Given the description of an element on the screen output the (x, y) to click on. 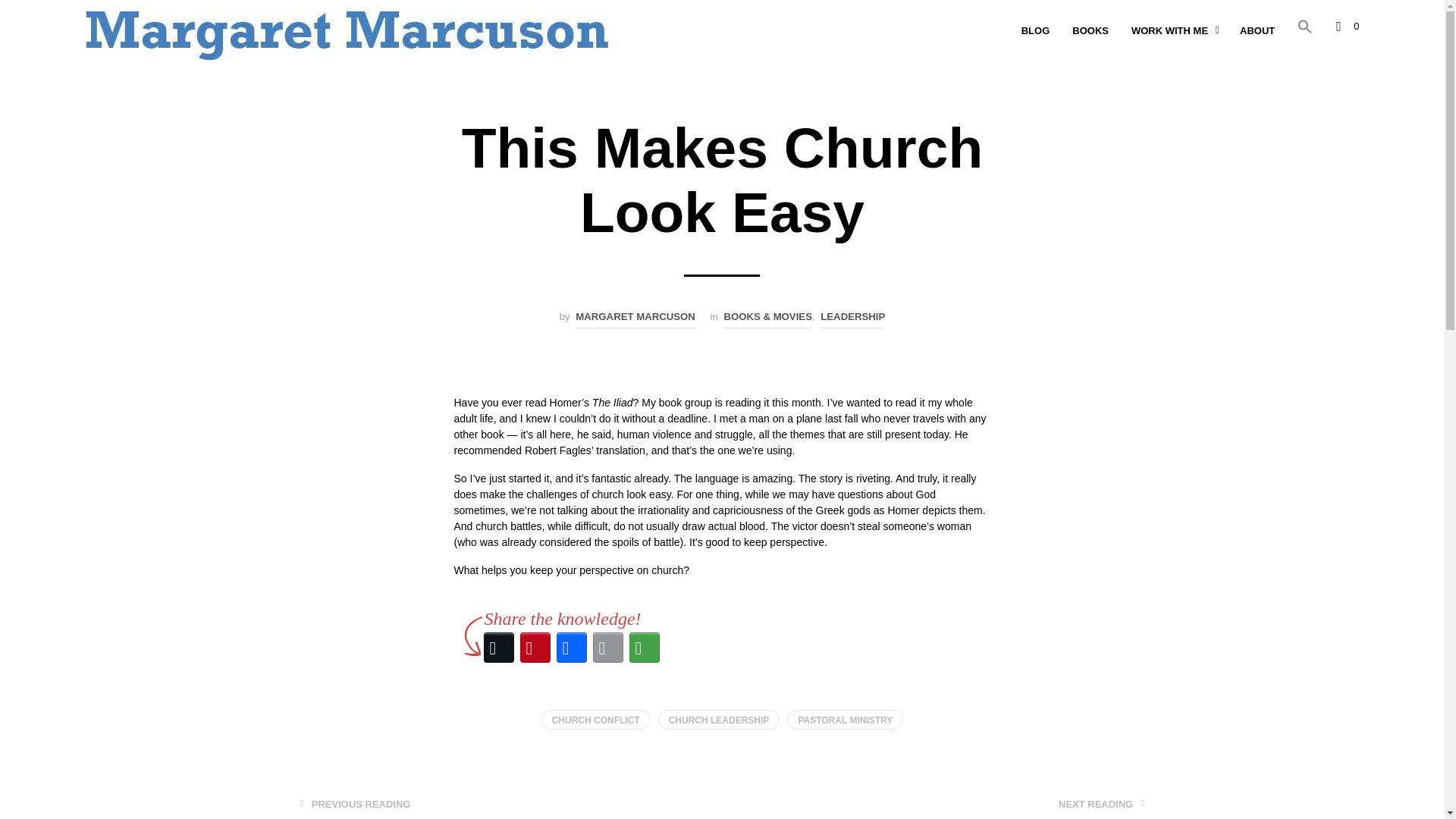
PASTORAL MINISTRY (844, 719)
BOOKS (1090, 30)
ABOUT (1256, 30)
CHURCH LEADERSHIP (719, 719)
MARGARET MARCUSON (635, 318)
Facebook (571, 647)
Bring your best to your ministry (345, 35)
More Options (644, 647)
Email This (607, 647)
